Given the description of an element on the screen output the (x, y) to click on. 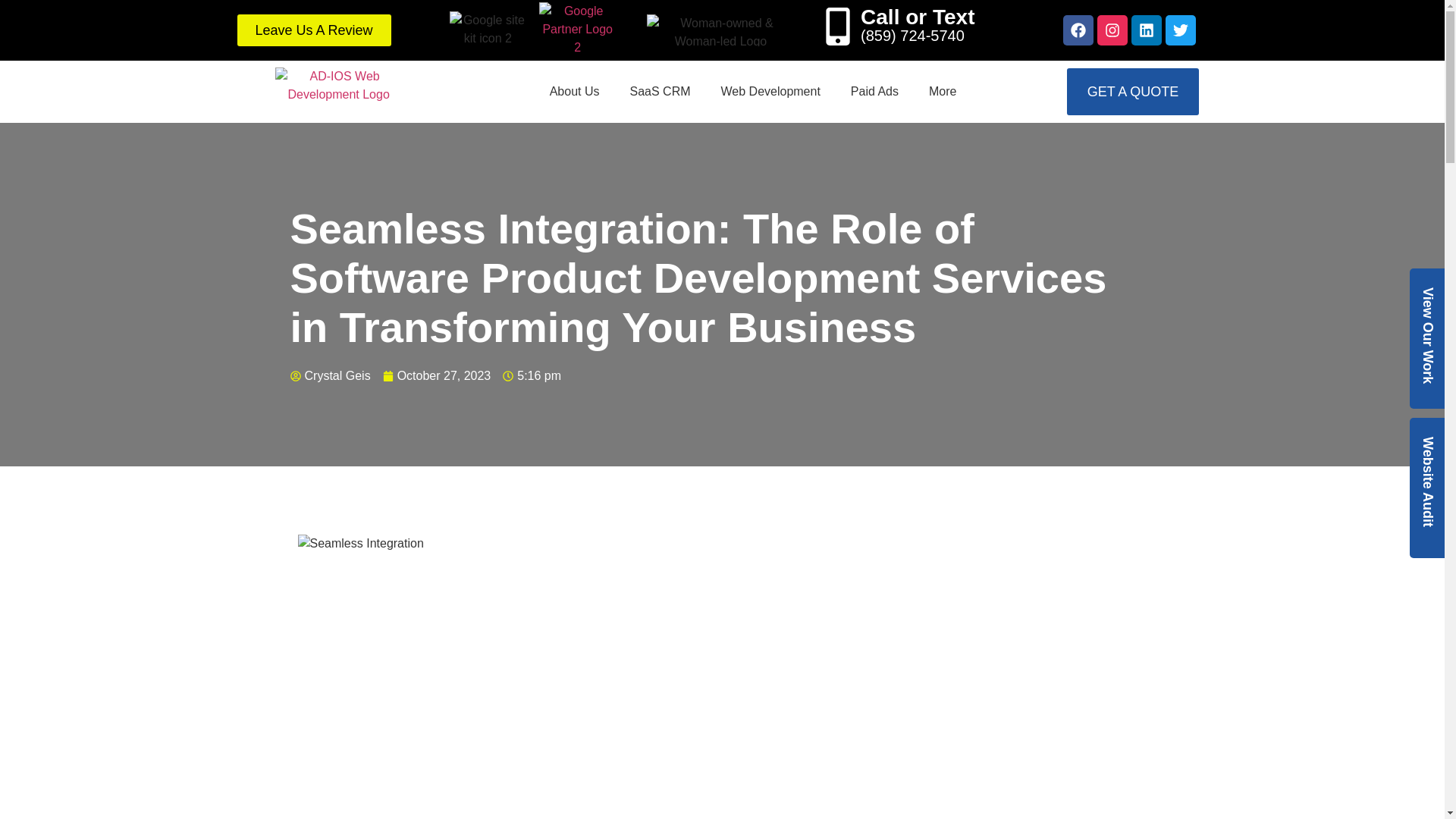
SaaS CRM (659, 91)
More (942, 91)
Leave Us A Review (312, 29)
Web Development (770, 91)
About Us (574, 91)
Paid Ads (874, 91)
Call or Text (917, 16)
